Given the description of an element on the screen output the (x, y) to click on. 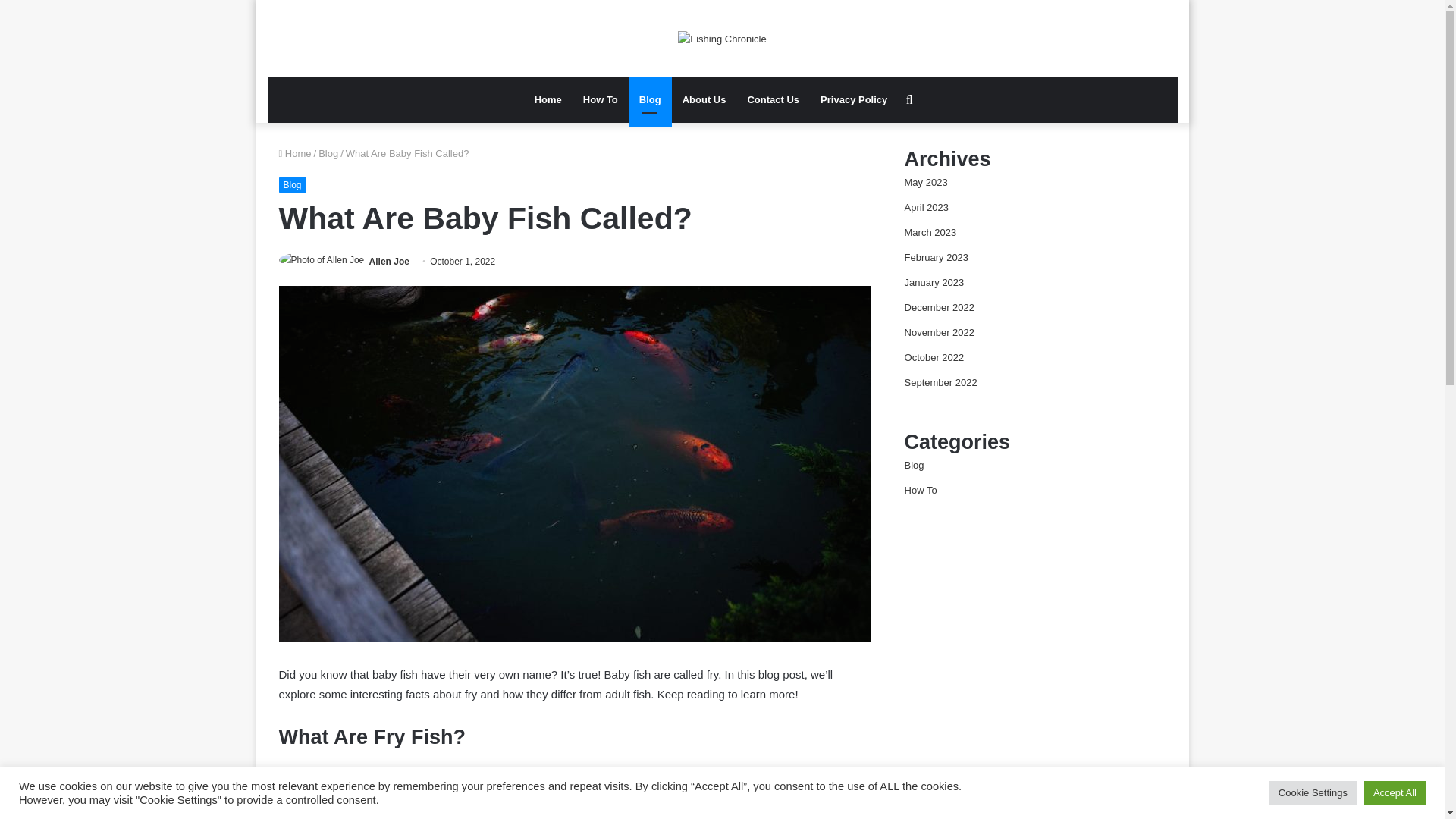
Allen Joe (389, 261)
Once the fish (645, 790)
Blog (649, 99)
Blog (292, 184)
Home (295, 153)
Privacy Policy (853, 99)
Home (548, 99)
Blog (327, 153)
Allen Joe (389, 261)
About Us (703, 99)
Contact Us (772, 99)
How To (600, 99)
Fishing Chronicle (721, 38)
